Given the description of an element on the screen output the (x, y) to click on. 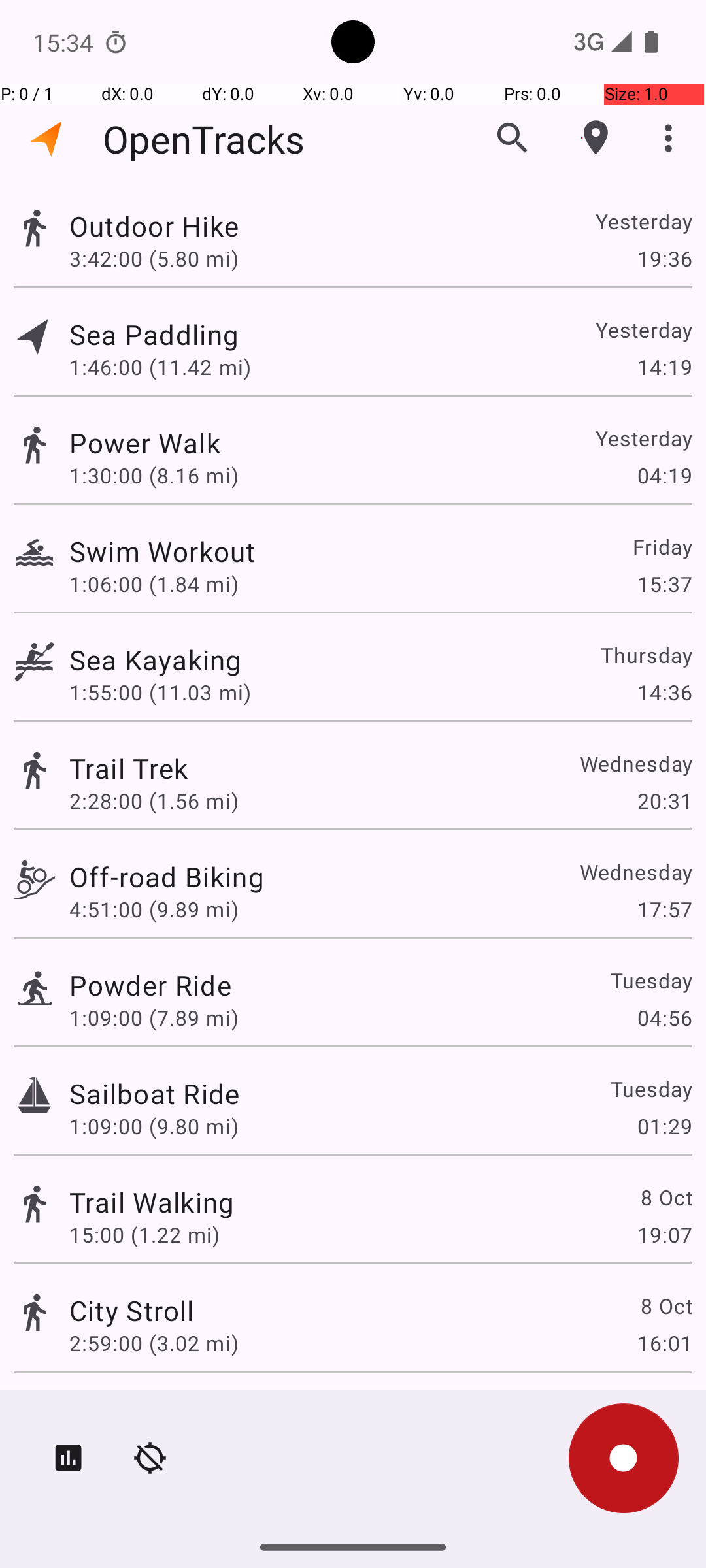
Outdoor Hike Element type: android.widget.TextView (153, 225)
3:42:00 (5.80 mi) Element type: android.widget.TextView (153, 258)
19:36 Element type: android.widget.TextView (664, 258)
Sea Paddling Element type: android.widget.TextView (153, 333)
1:46:00 (11.42 mi) Element type: android.widget.TextView (159, 366)
14:19 Element type: android.widget.TextView (664, 366)
Power Walk Element type: android.widget.TextView (144, 442)
1:30:00 (8.16 mi) Element type: android.widget.TextView (153, 475)
04:19 Element type: android.widget.TextView (664, 475)
Swim Workout Element type: android.widget.TextView (162, 550)
1:06:00 (1.84 mi) Element type: android.widget.TextView (153, 583)
Sea Kayaking Element type: android.widget.TextView (155, 659)
1:55:00 (11.03 mi) Element type: android.widget.TextView (159, 692)
14:36 Element type: android.widget.TextView (664, 692)
Trail Trek Element type: android.widget.TextView (128, 767)
2:28:00 (1.56 mi) Element type: android.widget.TextView (153, 800)
20:31 Element type: android.widget.TextView (664, 800)
Off-road Biking Element type: android.widget.TextView (166, 876)
4:51:00 (9.89 mi) Element type: android.widget.TextView (153, 909)
17:57 Element type: android.widget.TextView (664, 909)
Powder Ride Element type: android.widget.TextView (150, 984)
1:09:00 (7.89 mi) Element type: android.widget.TextView (153, 1017)
04:56 Element type: android.widget.TextView (664, 1017)
Sailboat Ride Element type: android.widget.TextView (154, 1092)
1:09:00 (9.80 mi) Element type: android.widget.TextView (153, 1125)
01:29 Element type: android.widget.TextView (664, 1125)
Trail Walking Element type: android.widget.TextView (151, 1201)
15:00 (1.22 mi) Element type: android.widget.TextView (144, 1234)
19:07 Element type: android.widget.TextView (664, 1234)
City Stroll Element type: android.widget.TextView (131, 1309)
2:59:00 (3.02 mi) Element type: android.widget.TextView (153, 1342)
16:01 Element type: android.widget.TextView (664, 1342)
Backcountry Snowboarding Element type: android.widget.TextView (246, 1408)
